Given the description of an element on the screen output the (x, y) to click on. 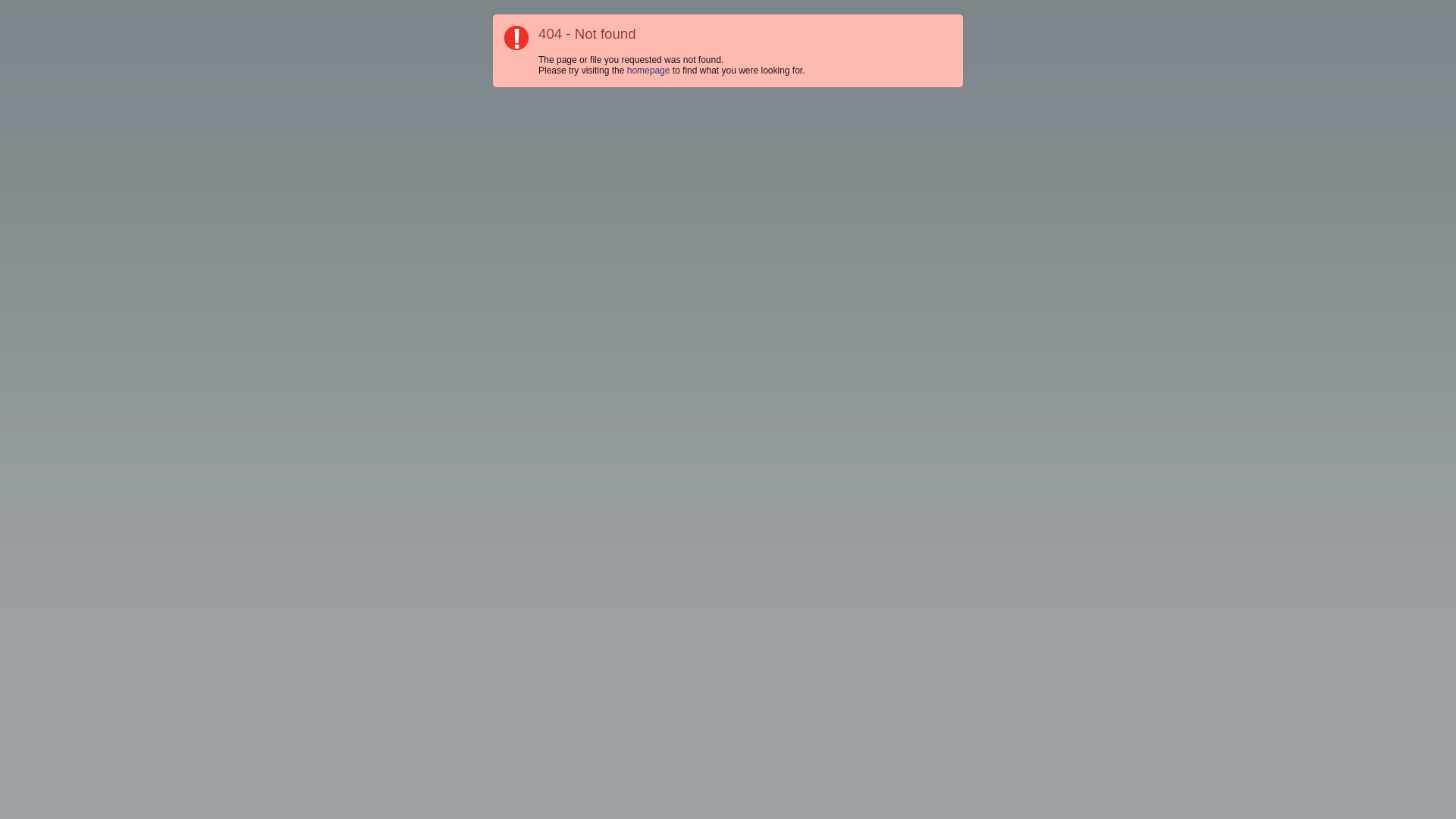
homepage Element type: text (648, 70)
